Given the description of an element on the screen output the (x, y) to click on. 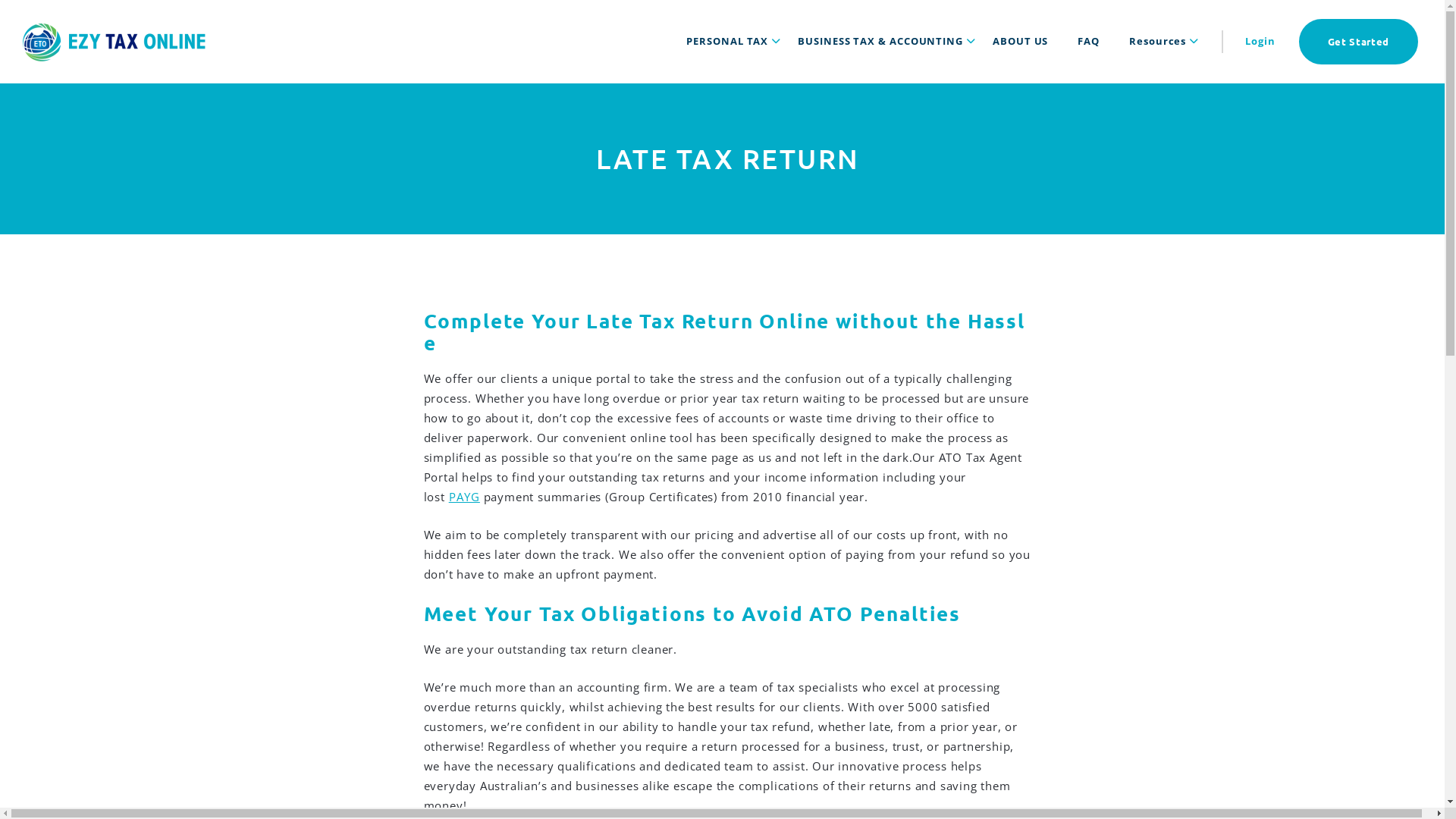
PAYG Element type: text (464, 496)
PERSONAL TAX Element type: text (727, 40)
BUSINESS TAX & ACCOUNTING Element type: text (880, 40)
Login Element type: text (1260, 40)
Get Started Element type: text (1358, 41)
FAQ Element type: text (1088, 40)
Resources Element type: text (1157, 40)
ABOUT US Element type: text (1020, 40)
